Given the description of an element on the screen output the (x, y) to click on. 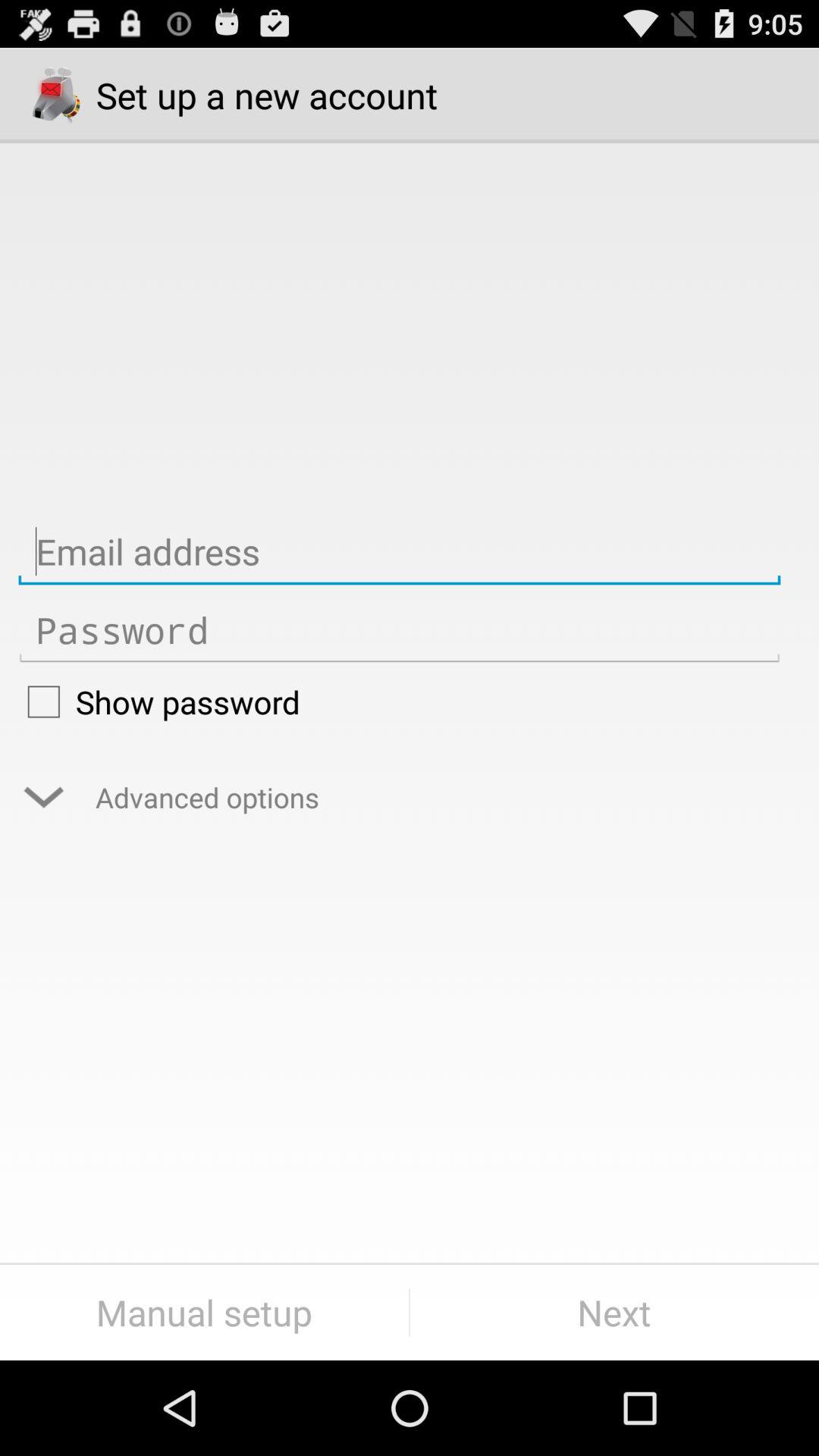
click the item at the bottom left corner (204, 1312)
